Given the description of an element on the screen output the (x, y) to click on. 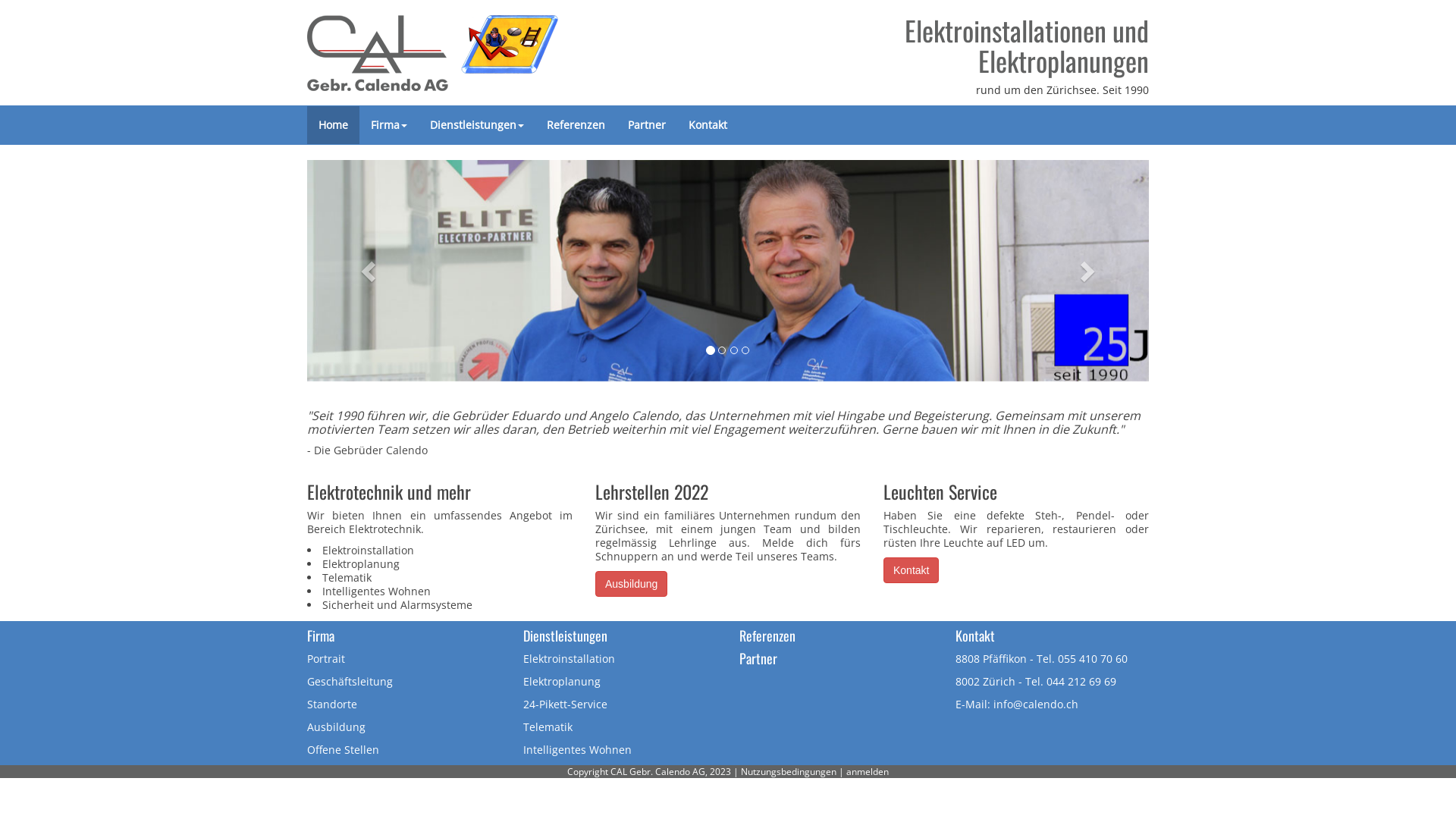
Partner Element type: text (646, 125)
Ausbildung Element type: text (336, 726)
anmelden Element type: text (867, 771)
Portrait Element type: text (326, 658)
24-Pikett-Service Element type: text (565, 703)
Offene Stellen Element type: text (343, 749)
Telematik Element type: text (547, 726)
Kontakt Element type: text (707, 125)
Partner Element type: text (758, 658)
Intelligentes Wohnen Element type: text (577, 749)
Dienstleistungen Element type: text (476, 125)
Home Element type: text (333, 125)
Elektroinstallation Element type: text (569, 658)
CAL Gebr. Calendo AG Element type: hover (432, 48)
Referenzen Element type: text (767, 635)
Standorte Element type: text (332, 703)
Kontakt Element type: text (910, 570)
Ausbildung Element type: text (631, 583)
Referenzen Element type: text (575, 125)
Kontakt Element type: text (974, 635)
Nutzungsbedingungen Element type: text (788, 771)
Elektroplanung Element type: text (561, 681)
Firma Element type: text (388, 125)
